Given the description of an element on the screen output the (x, y) to click on. 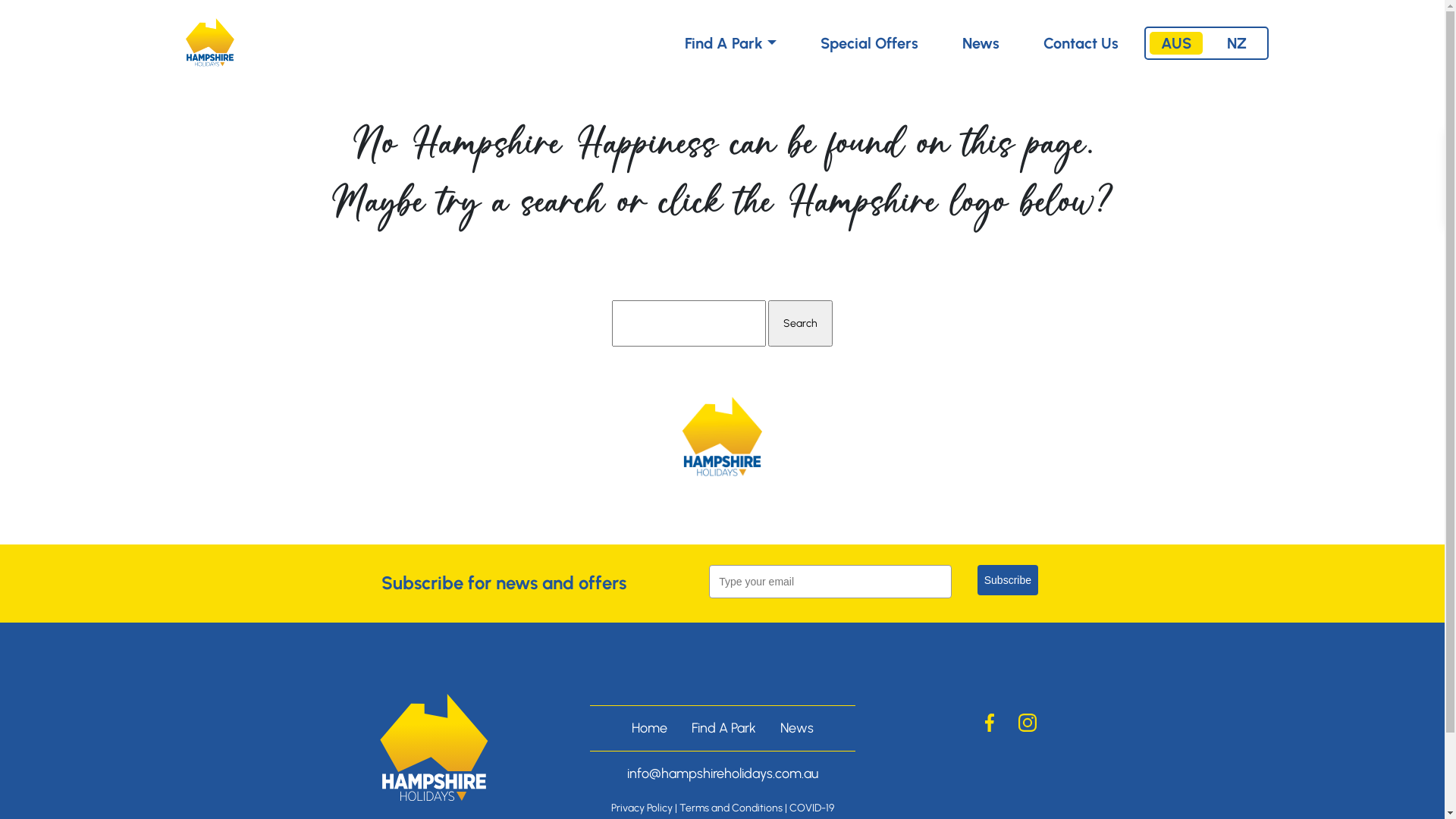
Find A Park Element type: text (723, 727)
Find A Park Element type: text (729, 42)
Subscribe Element type: text (1007, 579)
AUS
NZ Element type: text (1206, 42)
Terms and Conditions Element type: text (730, 807)
News Element type: text (979, 42)
Contact Us Element type: text (1080, 42)
Home Element type: text (648, 727)
info@hampshireholidays.com.au Element type: text (721, 773)
| COVID-19 Element type: text (808, 807)
News Element type: text (795, 727)
Privacy Policy Element type: text (641, 807)
Search Element type: text (800, 323)
Special Offers Element type: text (869, 42)
